Given the description of an element on the screen output the (x, y) to click on. 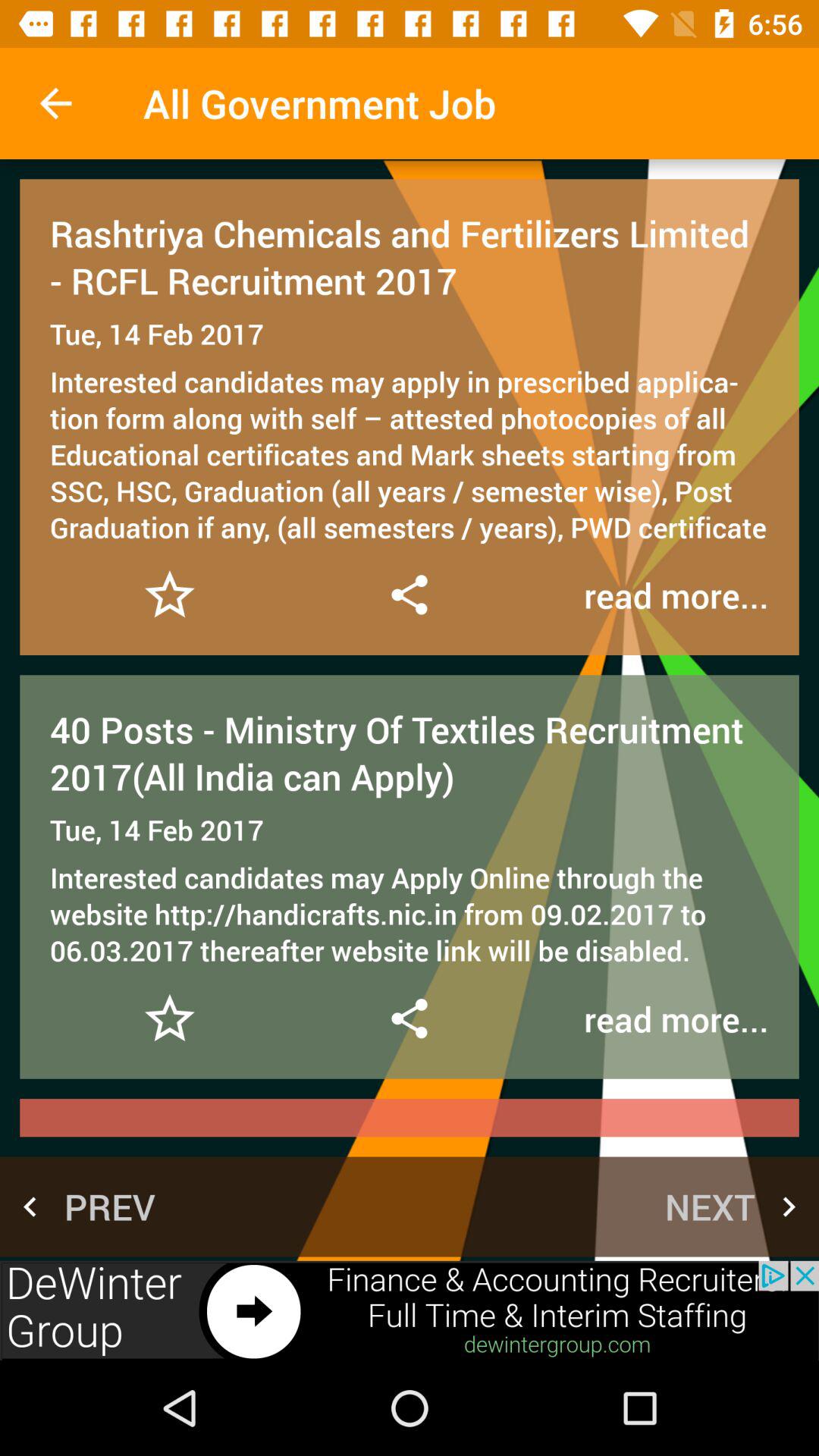
share (408, 594)
